Given the description of an element on the screen output the (x, y) to click on. 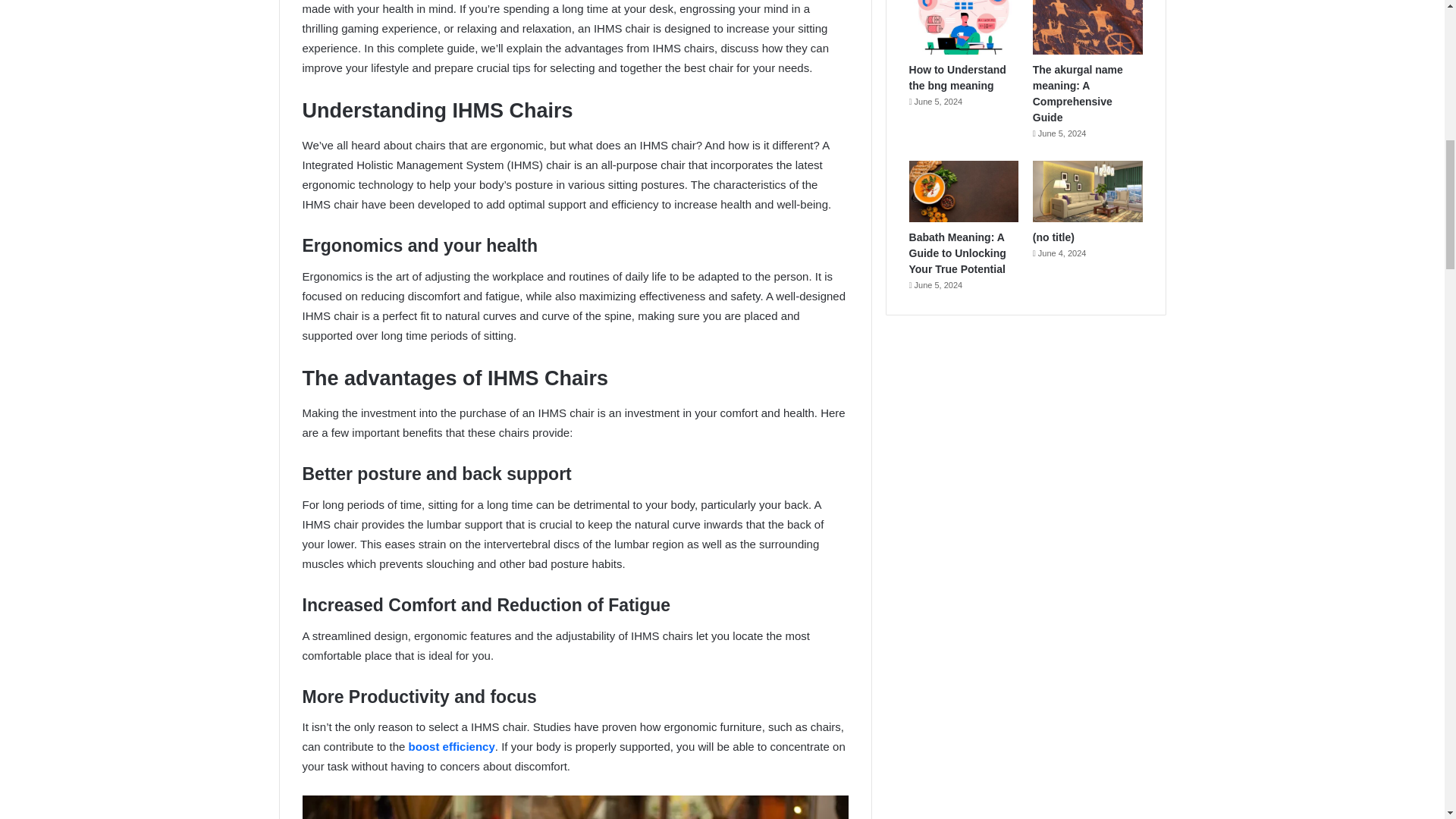
boost efficiency (452, 746)
